Given the description of an element on the screen output the (x, y) to click on. 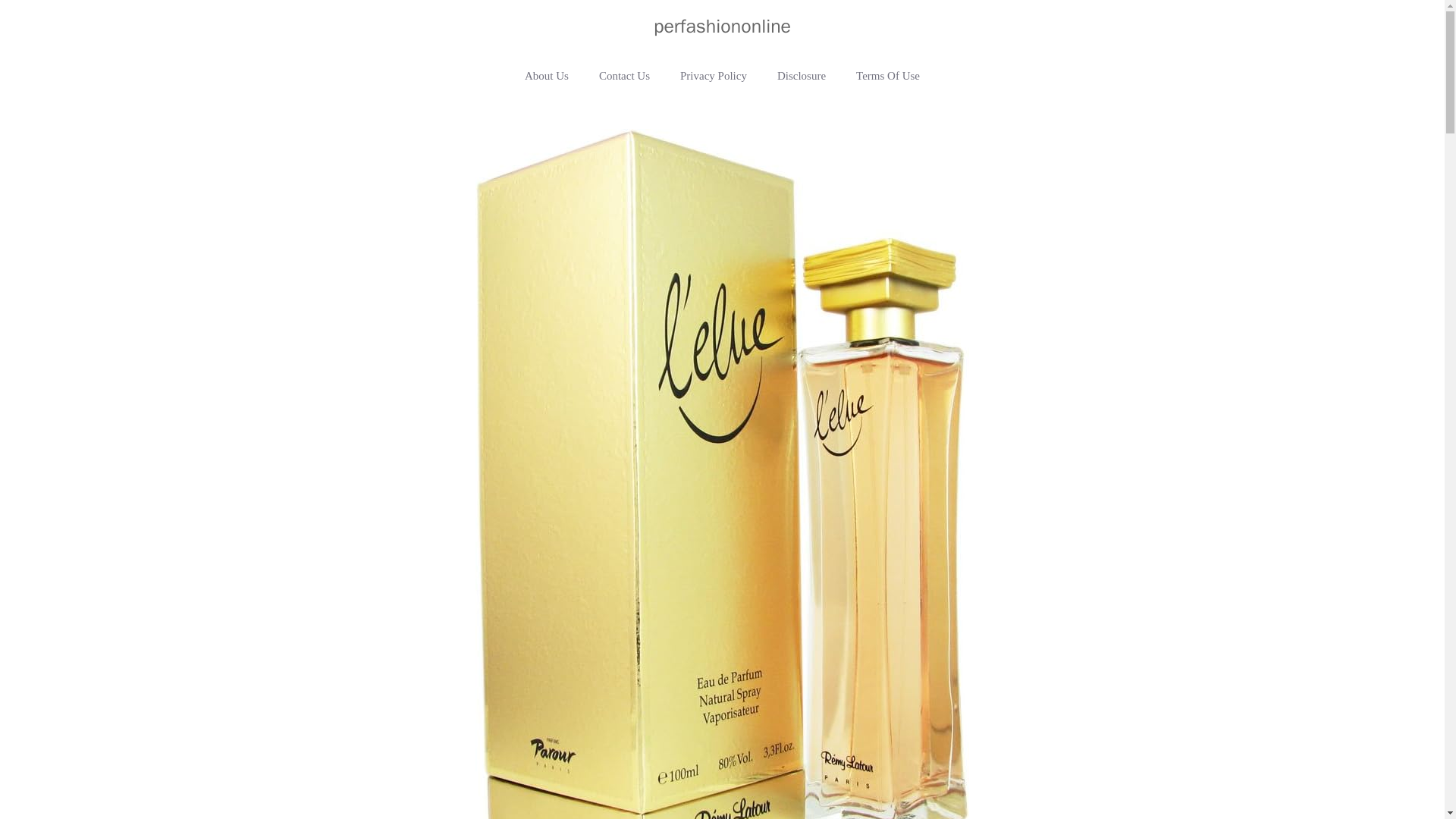
perfashiononline (721, 25)
Privacy Policy (713, 75)
Disclosure (801, 75)
Terms Of Use (887, 75)
Contact Us (624, 75)
About Us (546, 75)
